Given the description of an element on the screen output the (x, y) to click on. 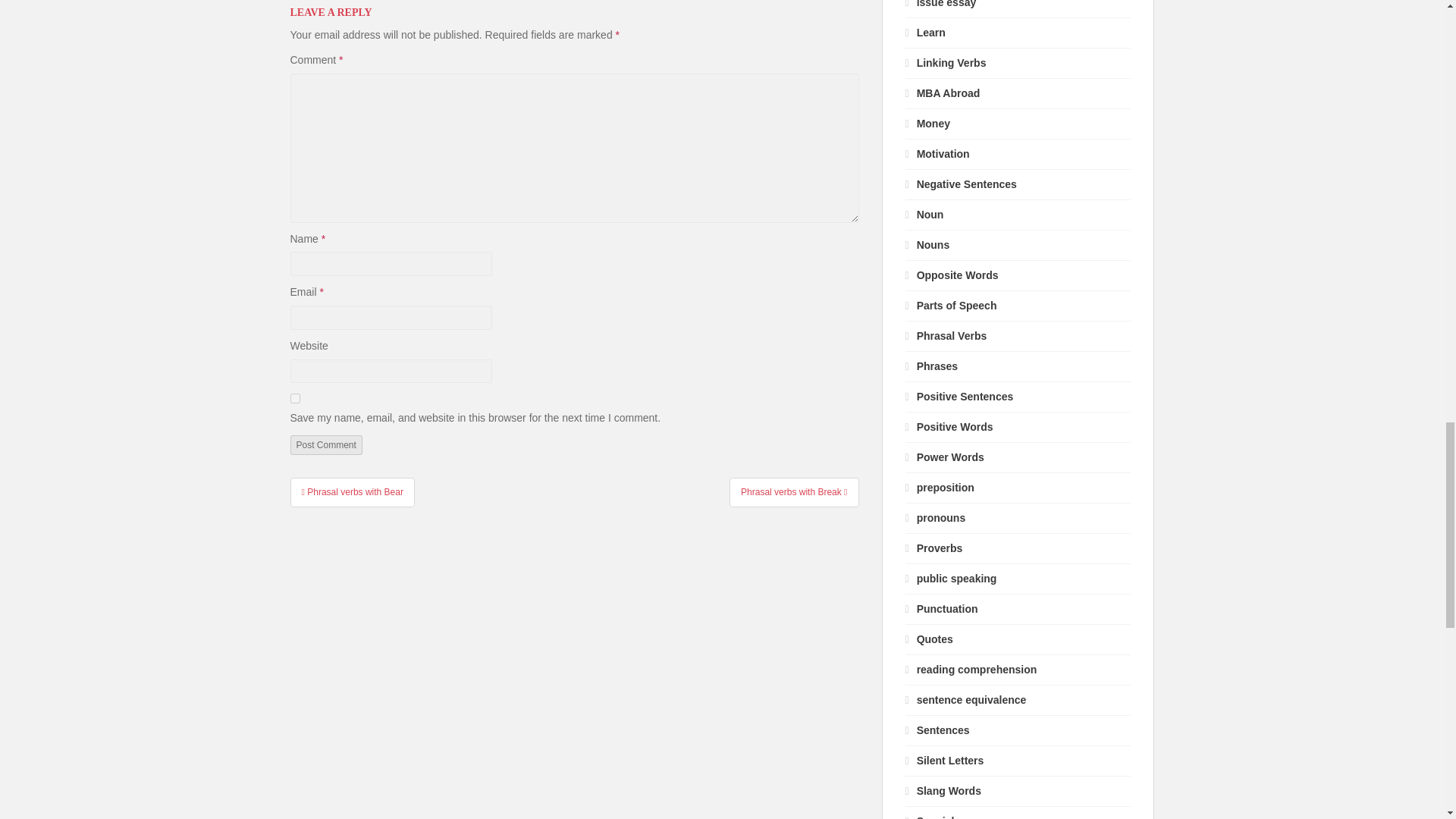
yes (294, 398)
Post Comment (325, 444)
